Given the description of an element on the screen output the (x, y) to click on. 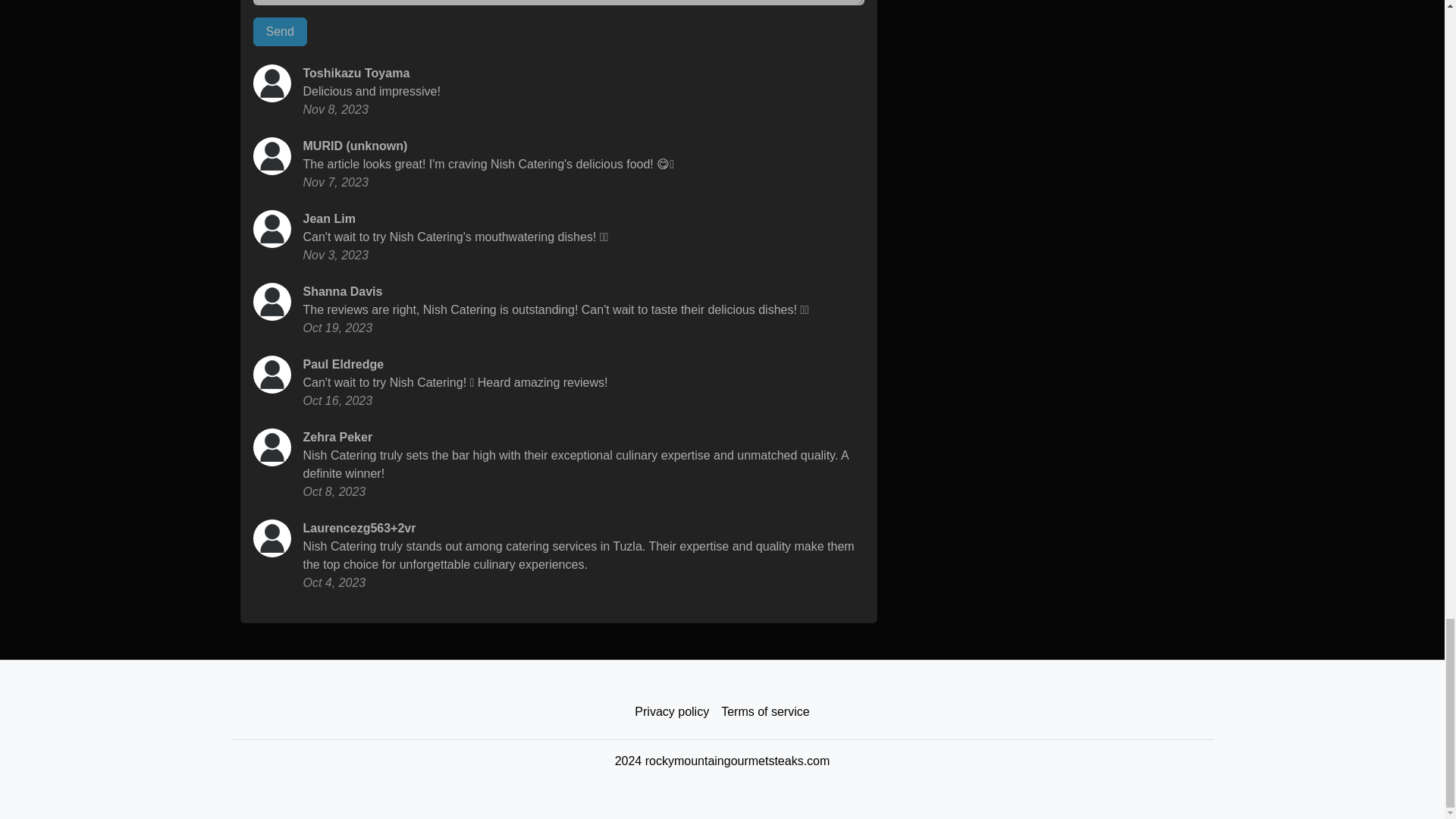
Send (280, 31)
Privacy policy (671, 711)
Terms of service (764, 711)
Send (280, 31)
